Given the description of an element on the screen output the (x, y) to click on. 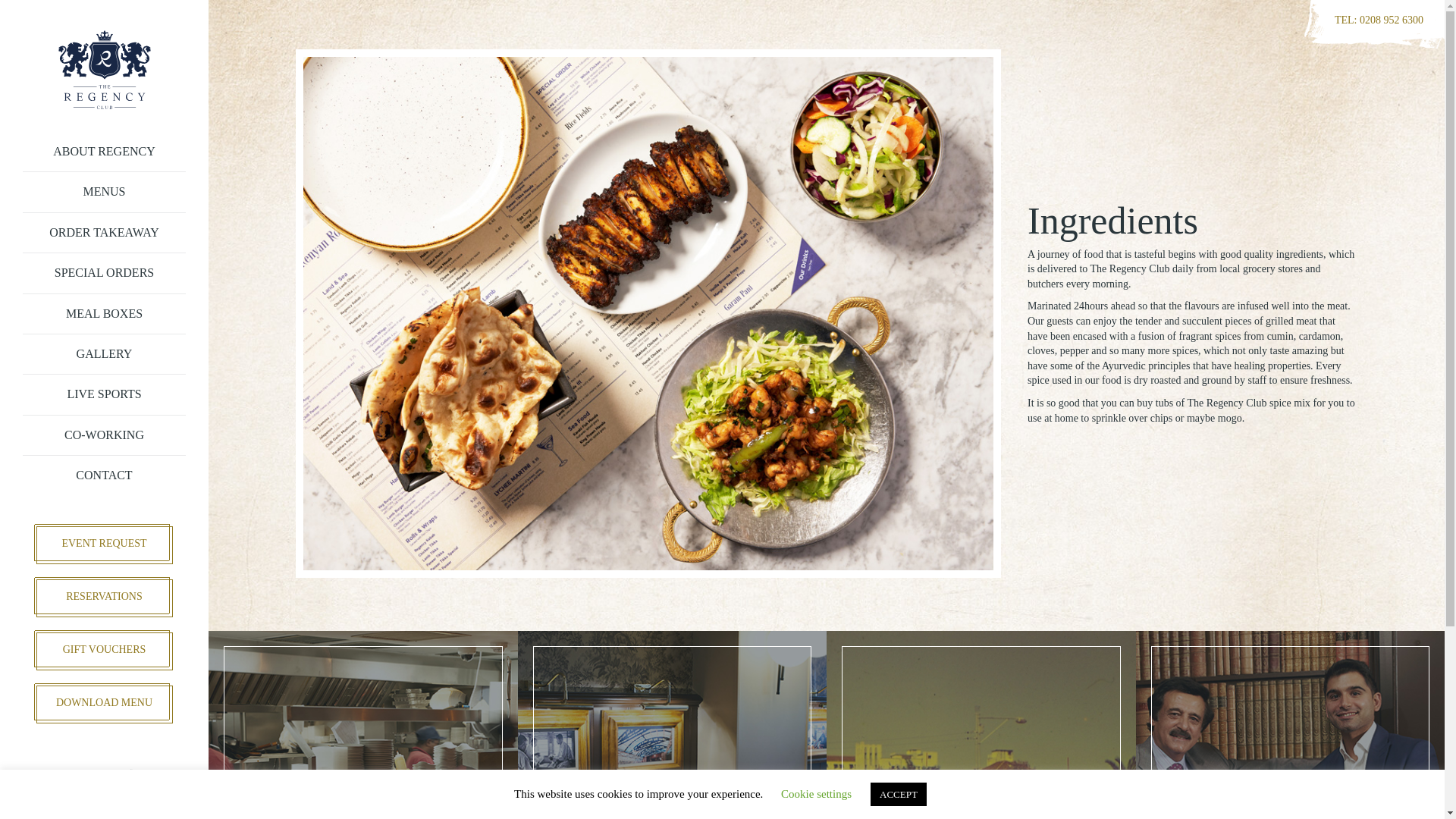
EVENT REQUEST (104, 545)
CO-WORKING (104, 435)
MEAL BOXES (104, 314)
RESERVATIONS (104, 598)
DOWNLOAD MENU (104, 704)
SPECIAL ORDERS (104, 273)
MENUS (104, 191)
ORDER TAKEAWAY (104, 232)
ABOUT REGENCY (104, 151)
GIFT VOUCHERS (104, 651)
CONTACT (104, 475)
GALLERY (104, 354)
LIVE SPORTS (104, 394)
